Given the description of an element on the screen output the (x, y) to click on. 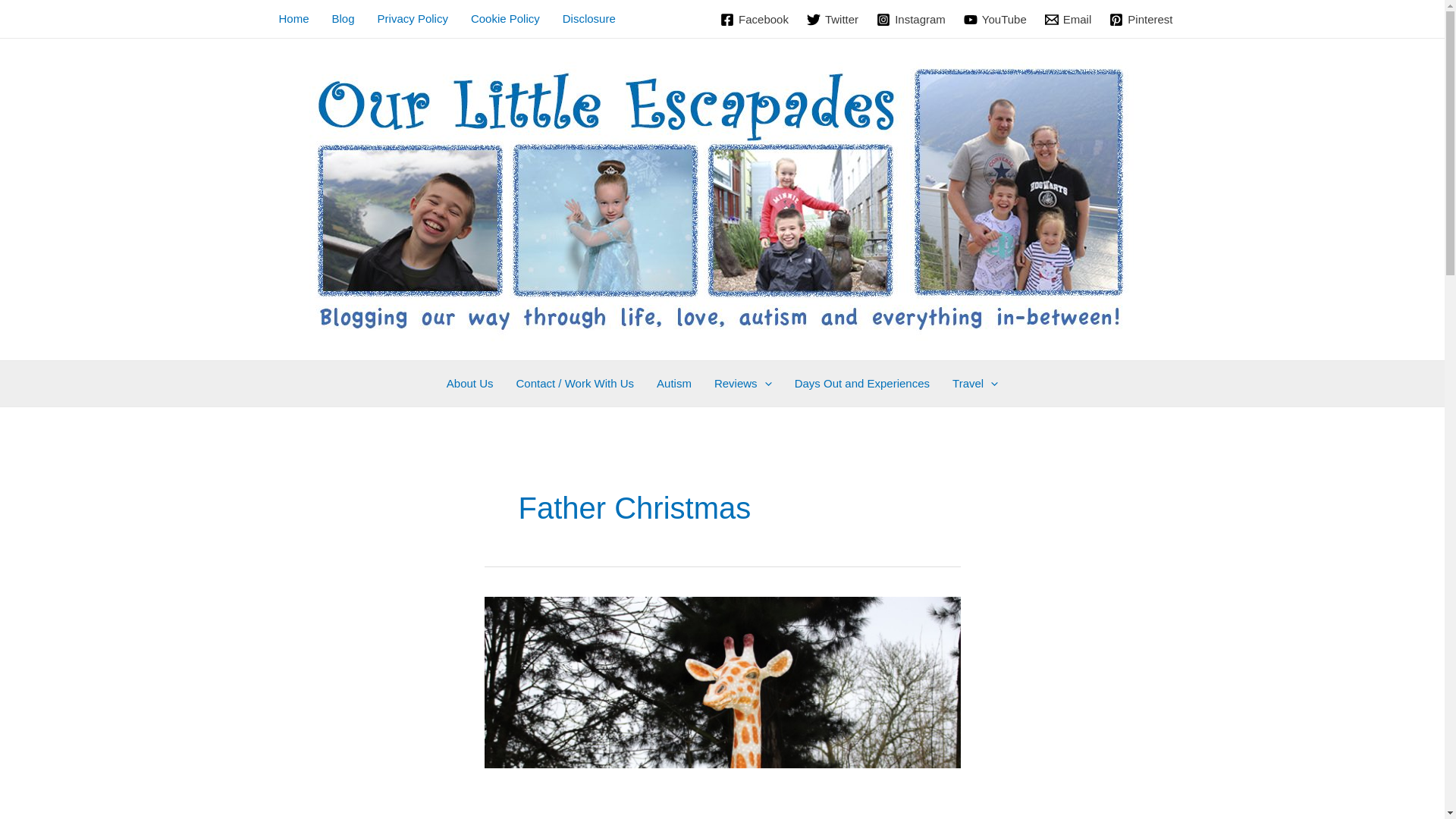
Travel (974, 383)
Home (293, 18)
Blog (343, 18)
Privacy Policy (413, 18)
Instagram (911, 19)
Facebook (754, 19)
About Us (470, 383)
YouTube (994, 19)
Pinterest (1140, 19)
Twitter (832, 19)
Autism (674, 383)
Email (1068, 19)
Days Out and Experiences (861, 383)
Cookie Policy (505, 18)
Reviews (743, 383)
